Given the description of an element on the screen output the (x, y) to click on. 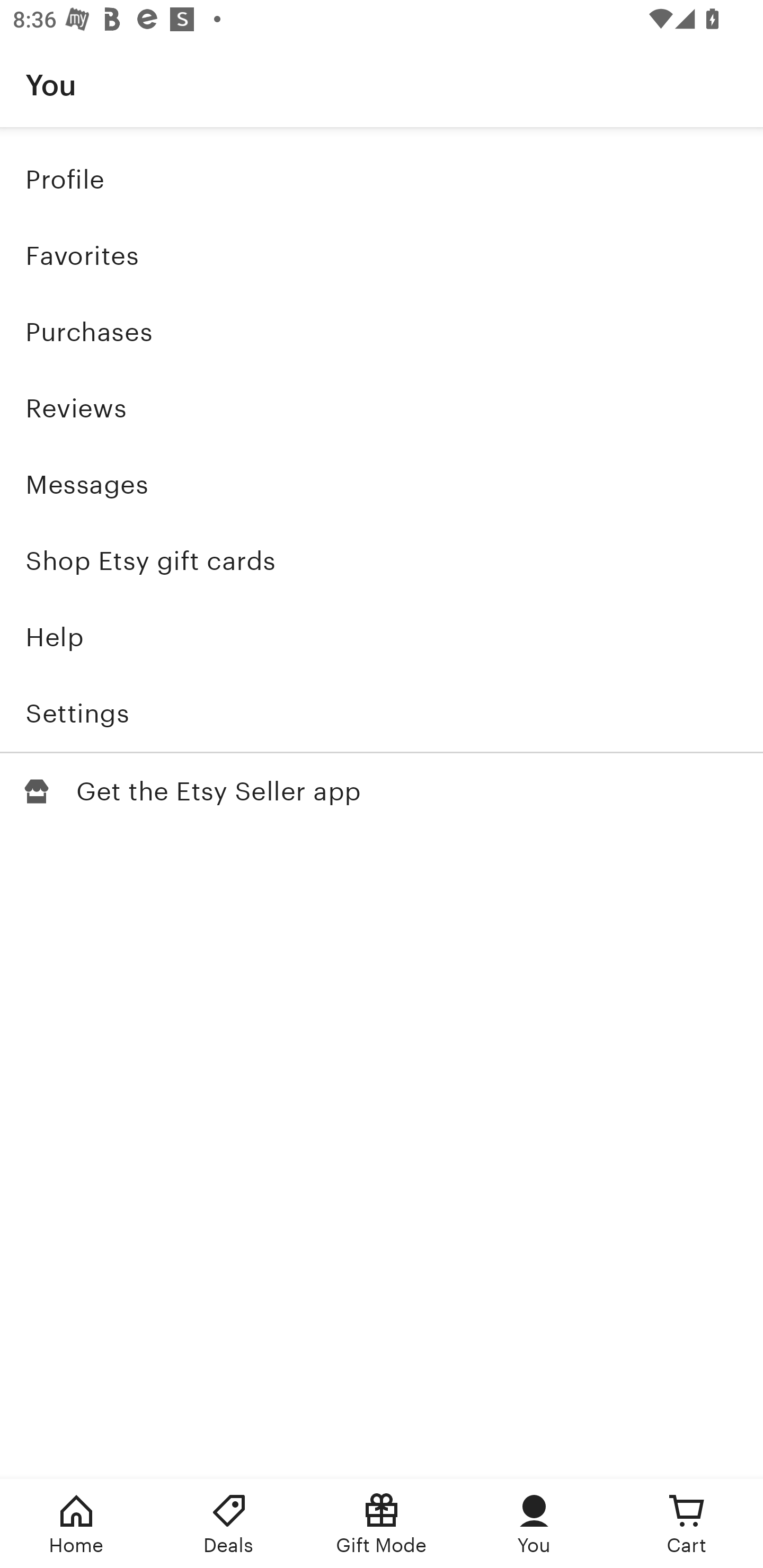
Profile (381, 179)
Favorites (381, 255)
Purchases (381, 332)
Reviews (381, 408)
Messages (381, 484)
Shop Etsy gift cards (381, 560)
Help (381, 636)
Settings (381, 713)
Get the Etsy Seller app (381, 790)
Home (76, 1523)
Deals (228, 1523)
Gift Mode (381, 1523)
Cart (686, 1523)
